Given the description of an element on the screen output the (x, y) to click on. 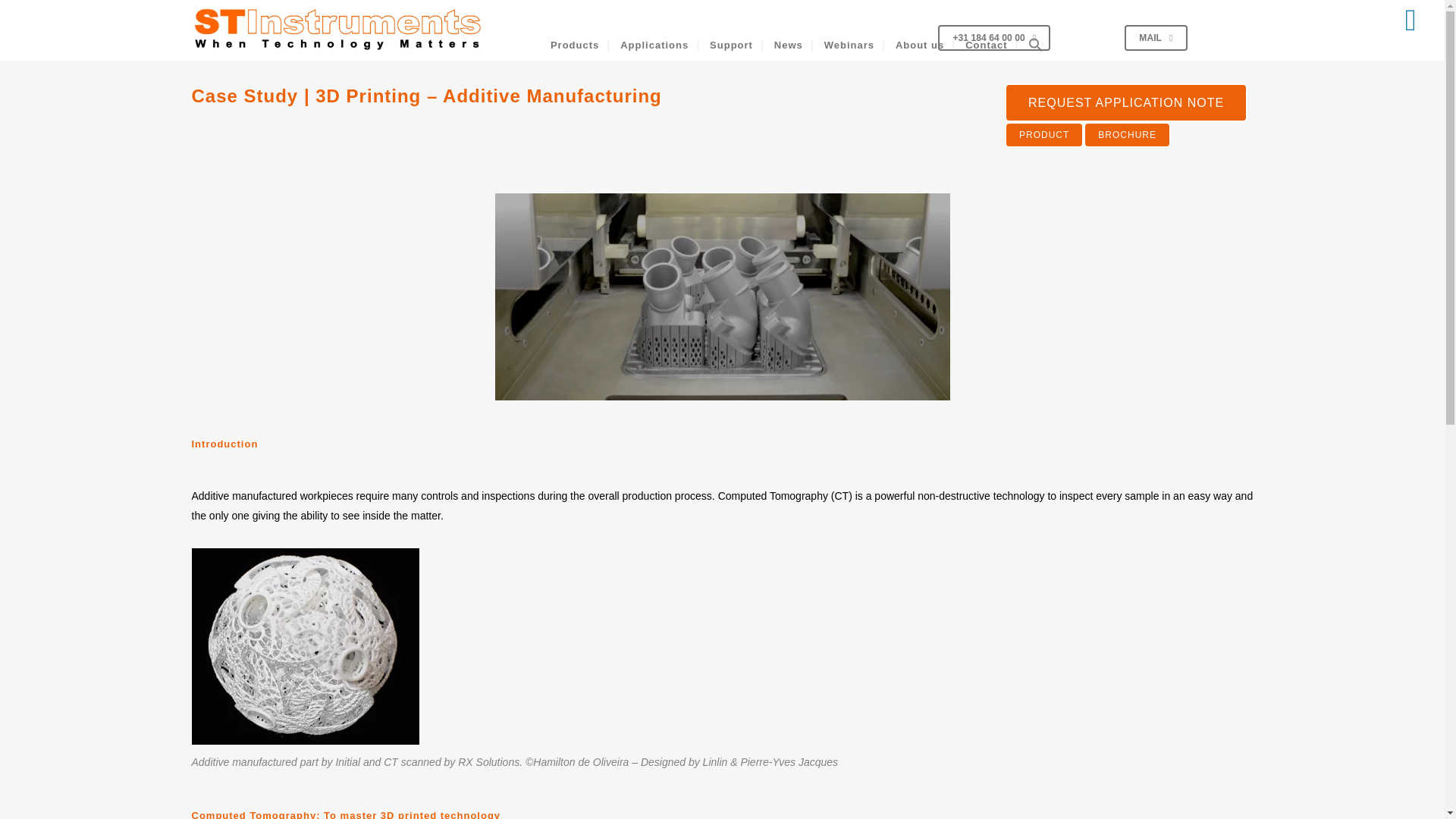
MAIL (1155, 37)
Case Study - 3D Printing - Additive Manufacturing -afb 1 (304, 645)
Applications (654, 37)
Products (574, 37)
